Given the description of an element on the screen output the (x, y) to click on. 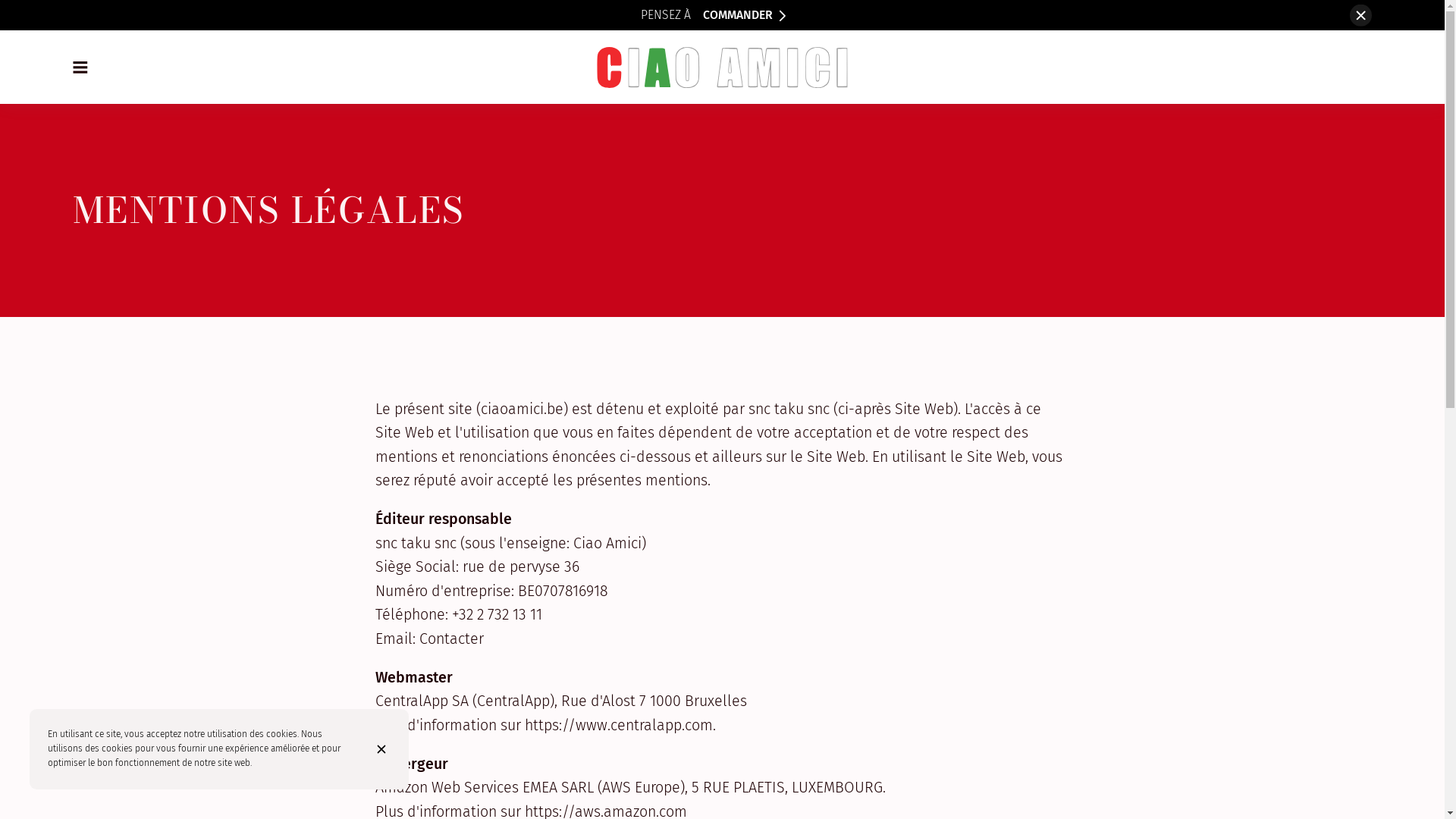
CIAO AMICI Element type: text (721, 67)
https://www.centralapp.com Element type: text (618, 725)
Logo de Ciao Amici Element type: hover (721, 67)
Contacter Element type: text (450, 639)
+32 2 732 13 11 Element type: text (496, 614)
